Given the description of an element on the screen output the (x, y) to click on. 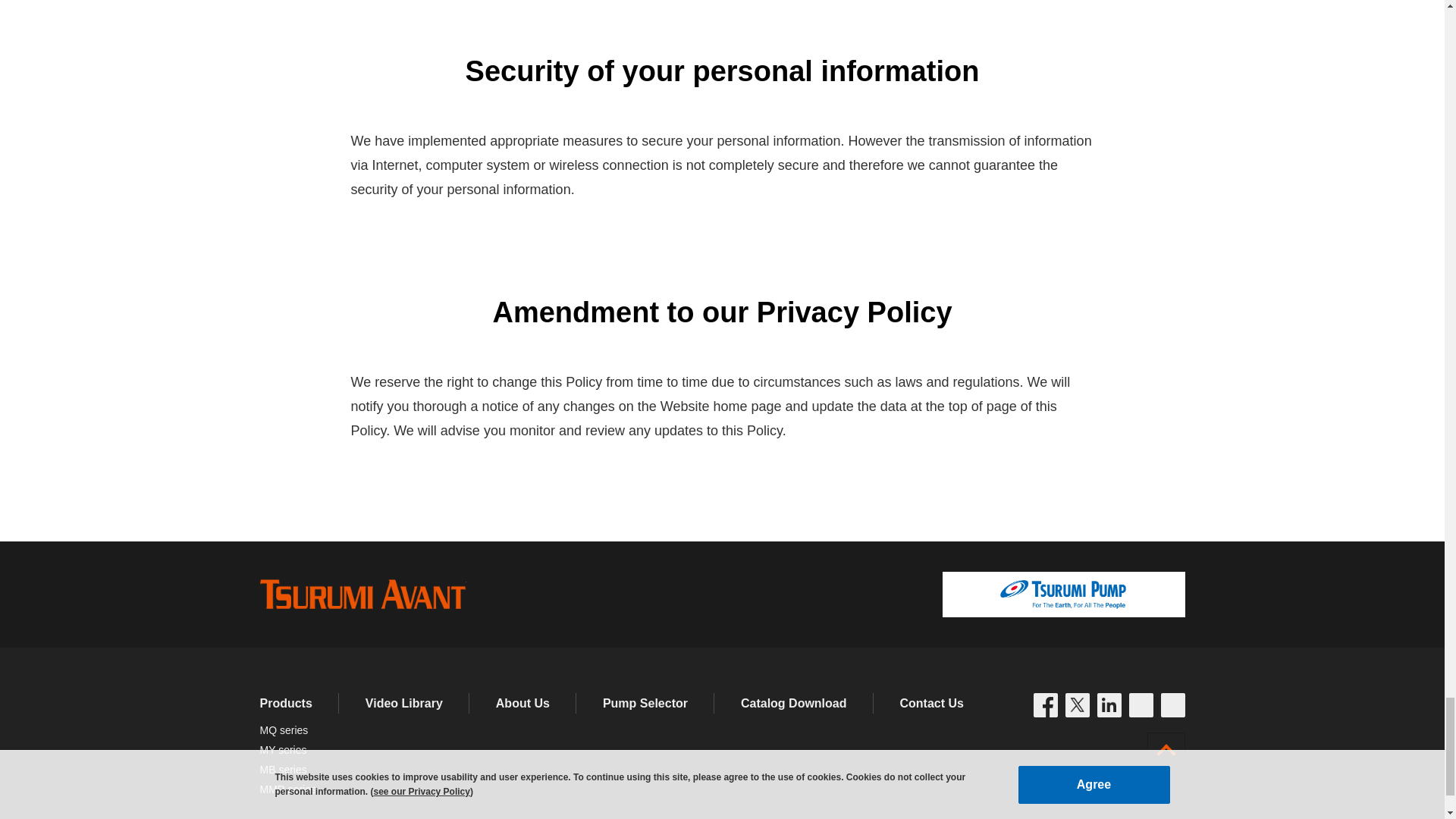
MQ series (283, 729)
MMR series (287, 788)
X (1076, 704)
TSURUMI AVANT (362, 594)
Pump Selector (644, 703)
Linkdin (1108, 704)
Contact Us (931, 703)
Facebook (1044, 704)
MB series (282, 769)
About Us (523, 703)
YouTube (1172, 704)
Catalog Download (794, 703)
Video Library (403, 703)
MY series (282, 749)
TSURUMI PUMP (1063, 594)
